Given the description of an element on the screen output the (x, y) to click on. 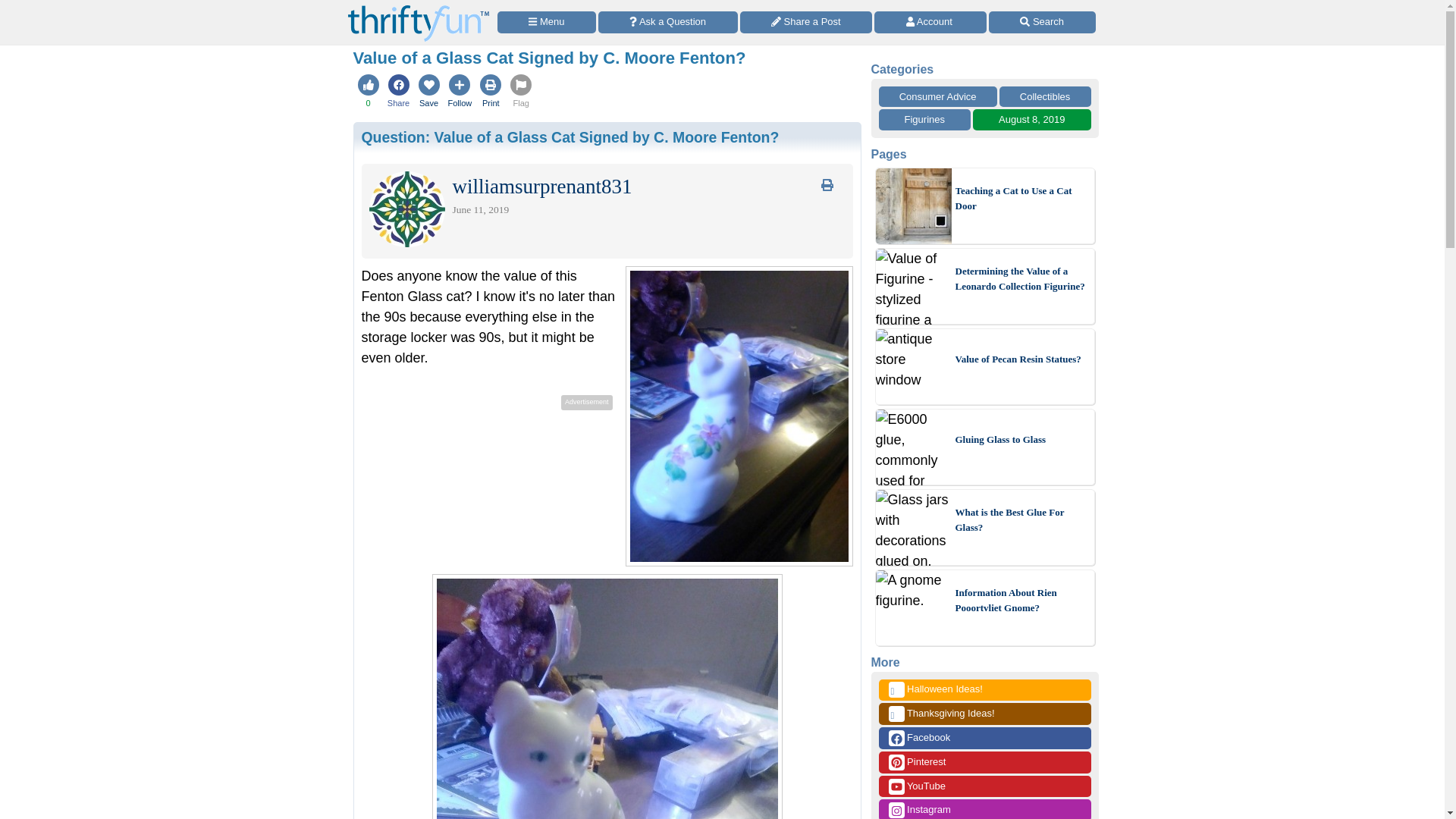
williamsurprenant831 (541, 189)
 Menu (546, 22)
 Ask a Question (668, 22)
